Given the description of an element on the screen output the (x, y) to click on. 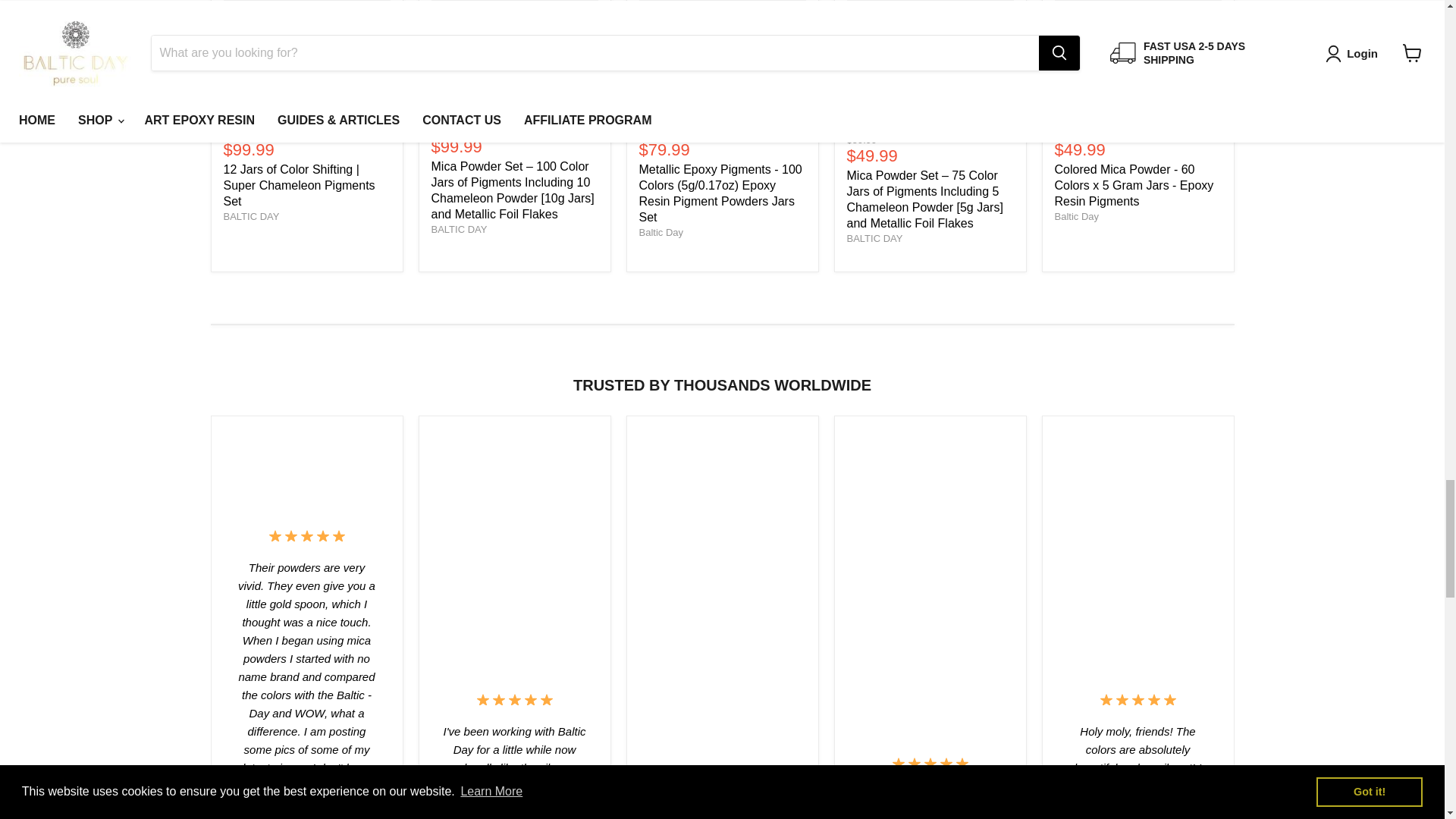
BALTIC DAY (250, 215)
BALTIC DAY (873, 238)
Baltic Day (1076, 215)
BALTIC DAY (458, 229)
Baltic Day (660, 232)
